Given the description of an element on the screen output the (x, y) to click on. 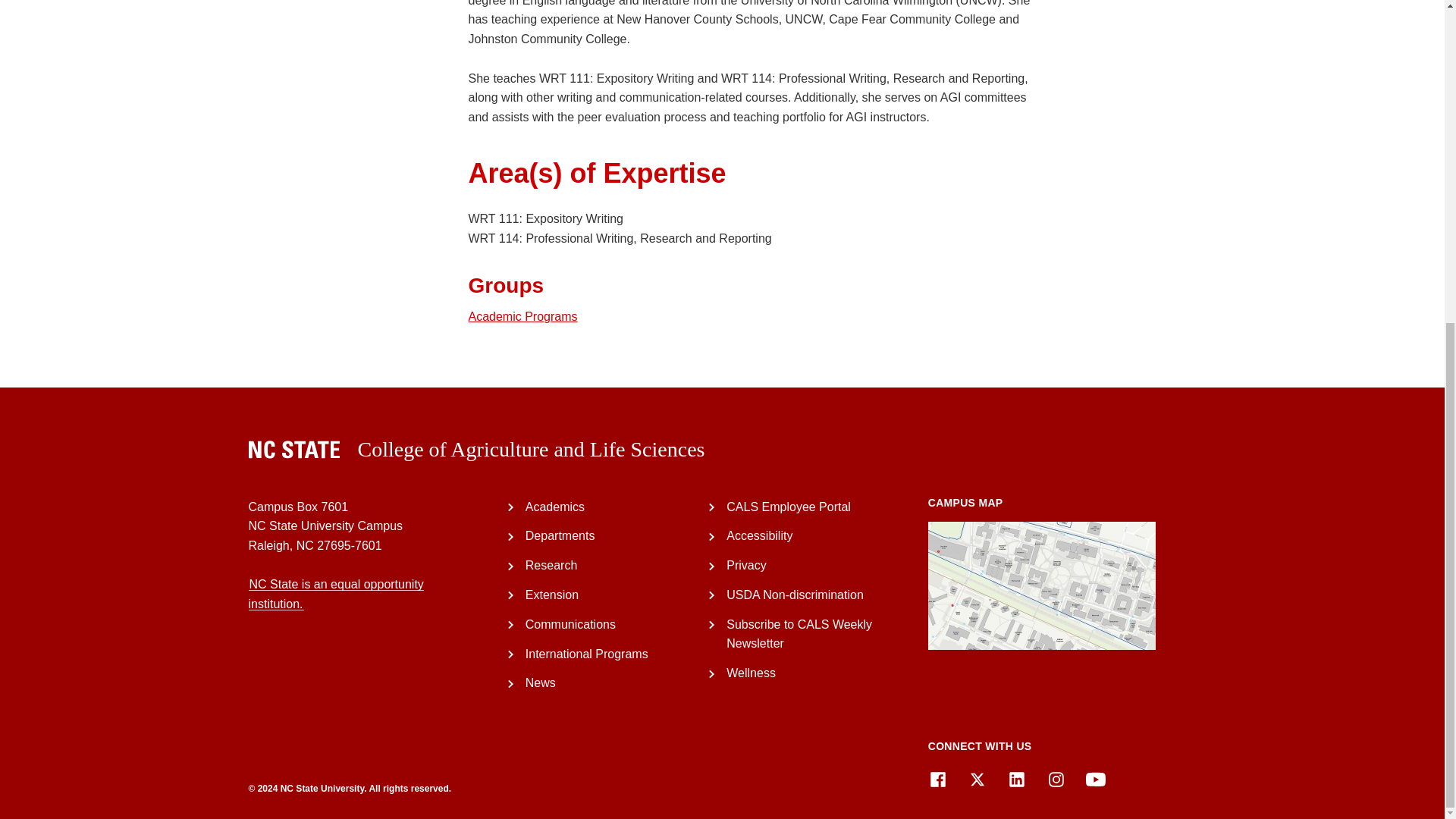
Facebook (937, 779)
YouTube (1095, 779)
Instagram (1055, 779)
LinkedIn (1016, 779)
X (977, 779)
